Given the description of an element on the screen output the (x, y) to click on. 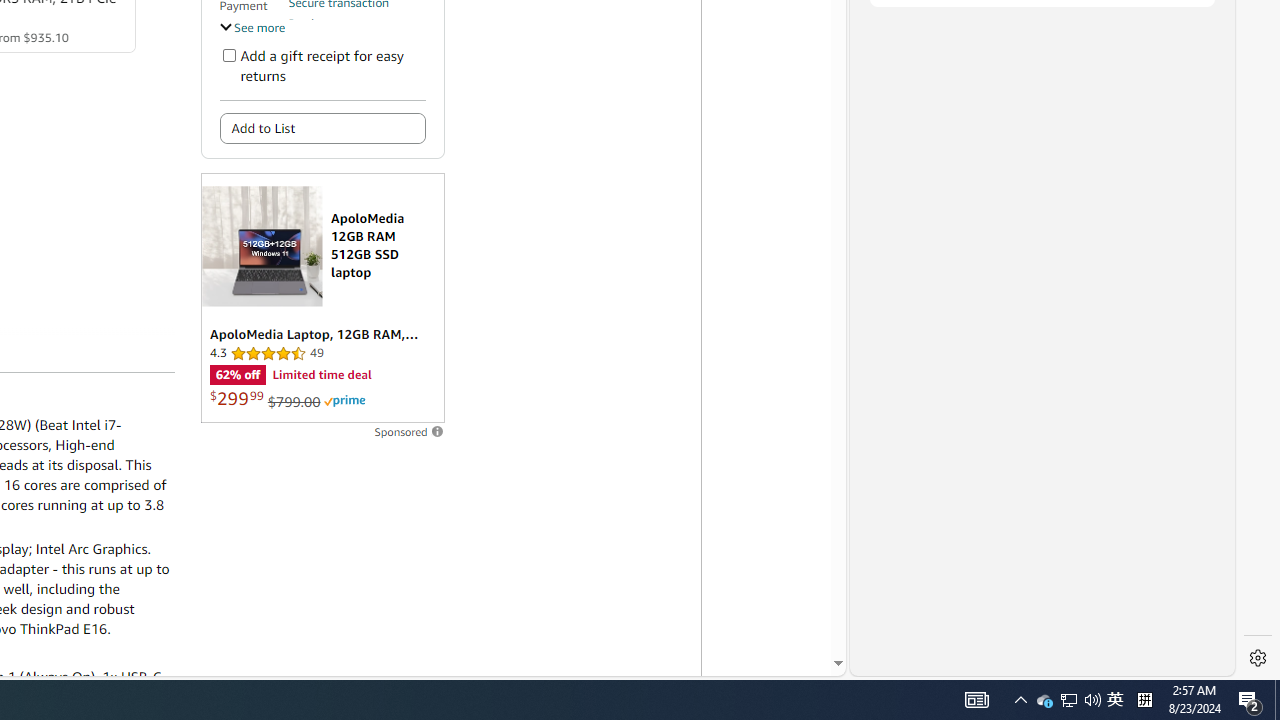
Prime (344, 400)
Add to List (322, 128)
Sponsored ad (322, 297)
Add a gift receipt for easy returns (228, 54)
Product support included (357, 31)
